Given the description of an element on the screen output the (x, y) to click on. 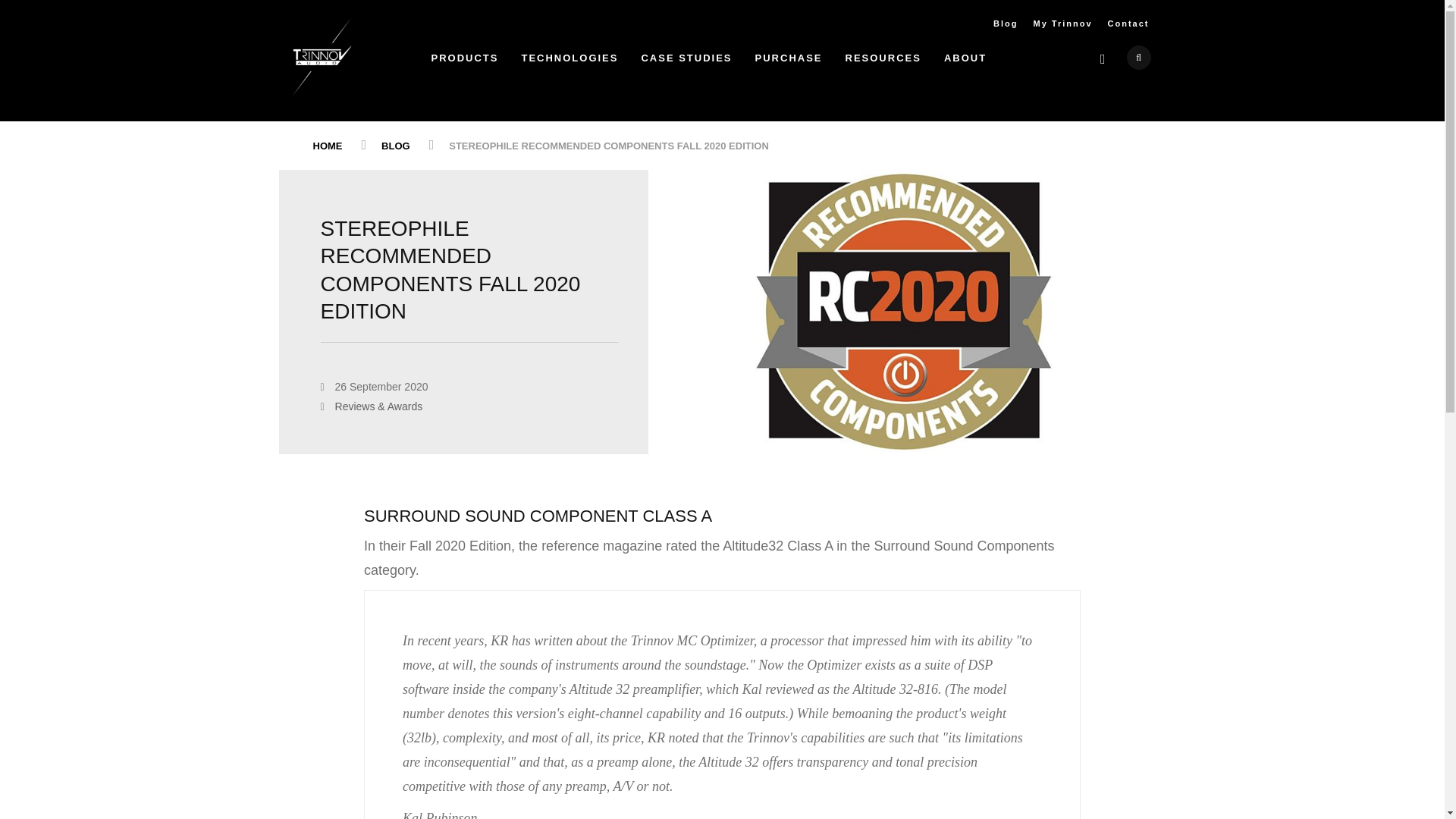
PRODUCTS (463, 61)
Technologies (569, 61)
Case Studies (686, 61)
ABOUT (965, 61)
Find A Reseller (788, 61)
TECHNOLOGIES (569, 61)
Contact (1129, 24)
My Trinnov (1062, 24)
Products (463, 61)
RESOURCES (883, 61)
PURCHASE (788, 61)
About Trinnov (965, 61)
Resources (883, 61)
CASE STUDIES (686, 61)
